Given the description of an element on the screen output the (x, y) to click on. 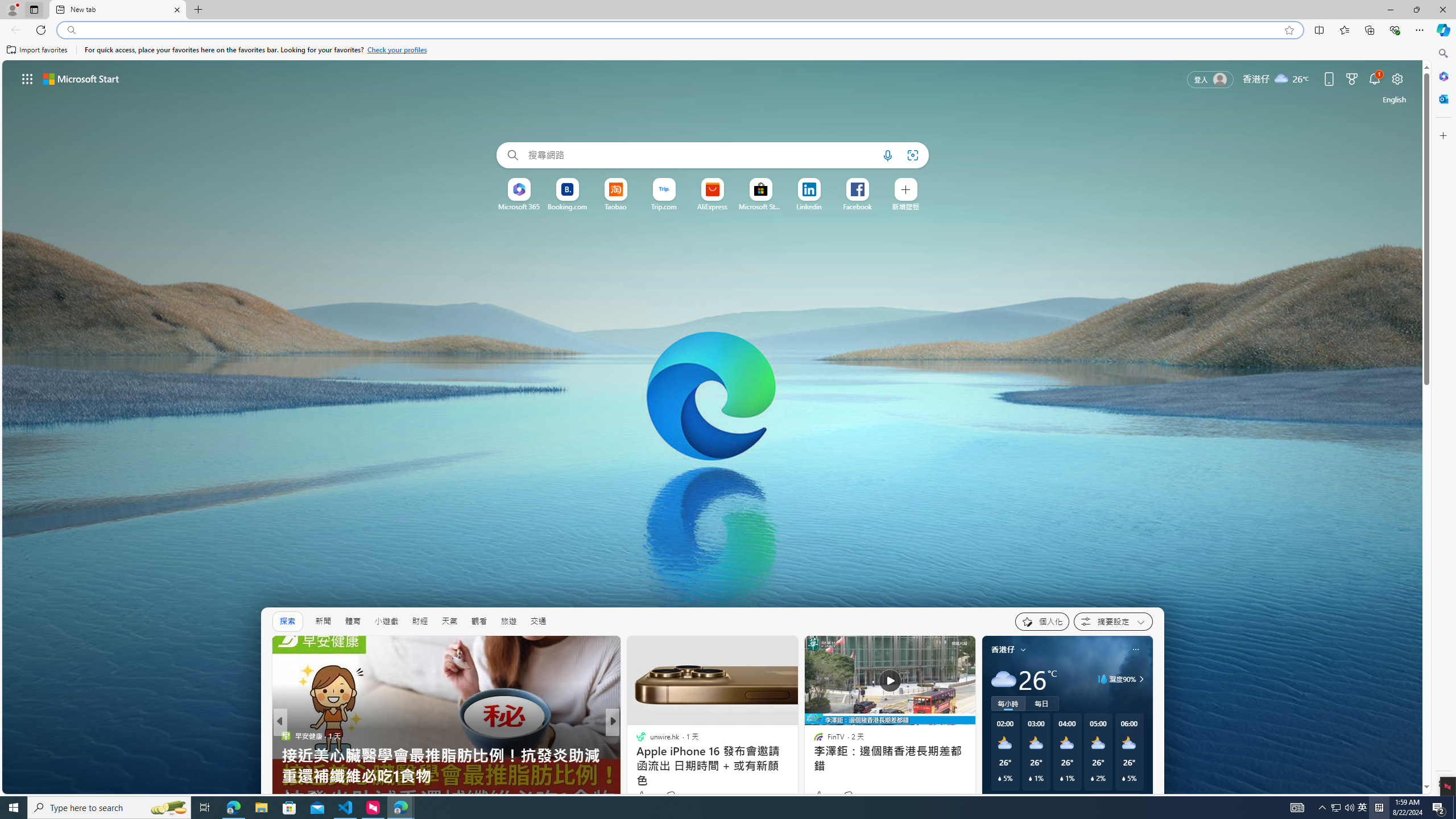
Favorites bar (715, 49)
Microsoft start (81, 78)
